Given the description of an element on the screen output the (x, y) to click on. 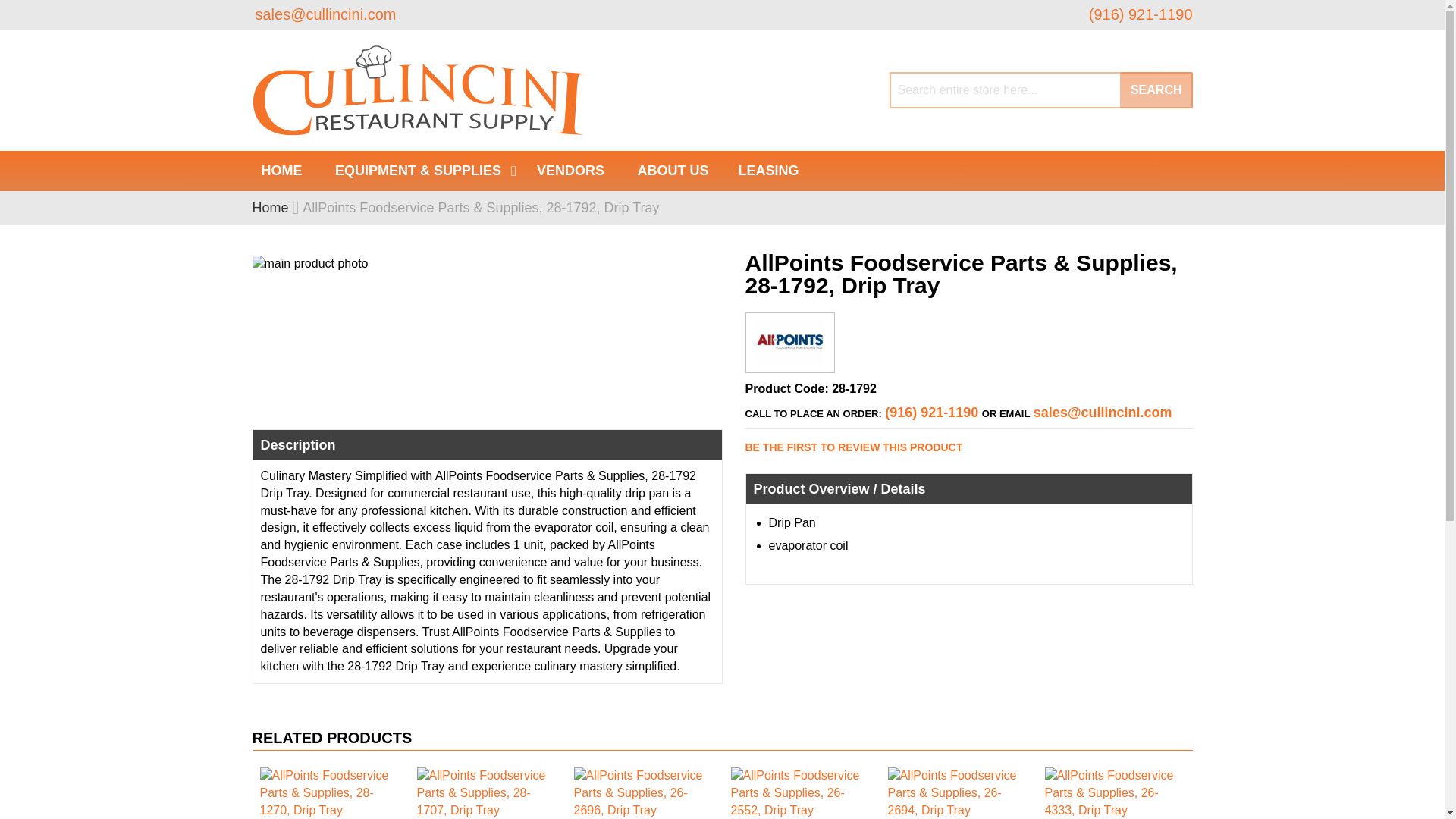
HOME (281, 170)
Go to Home Page (269, 207)
Cullincini Restaurant Supply  (420, 90)
SEARCH (1155, 90)
Search (1155, 90)
